Given the description of an element on the screen output the (x, y) to click on. 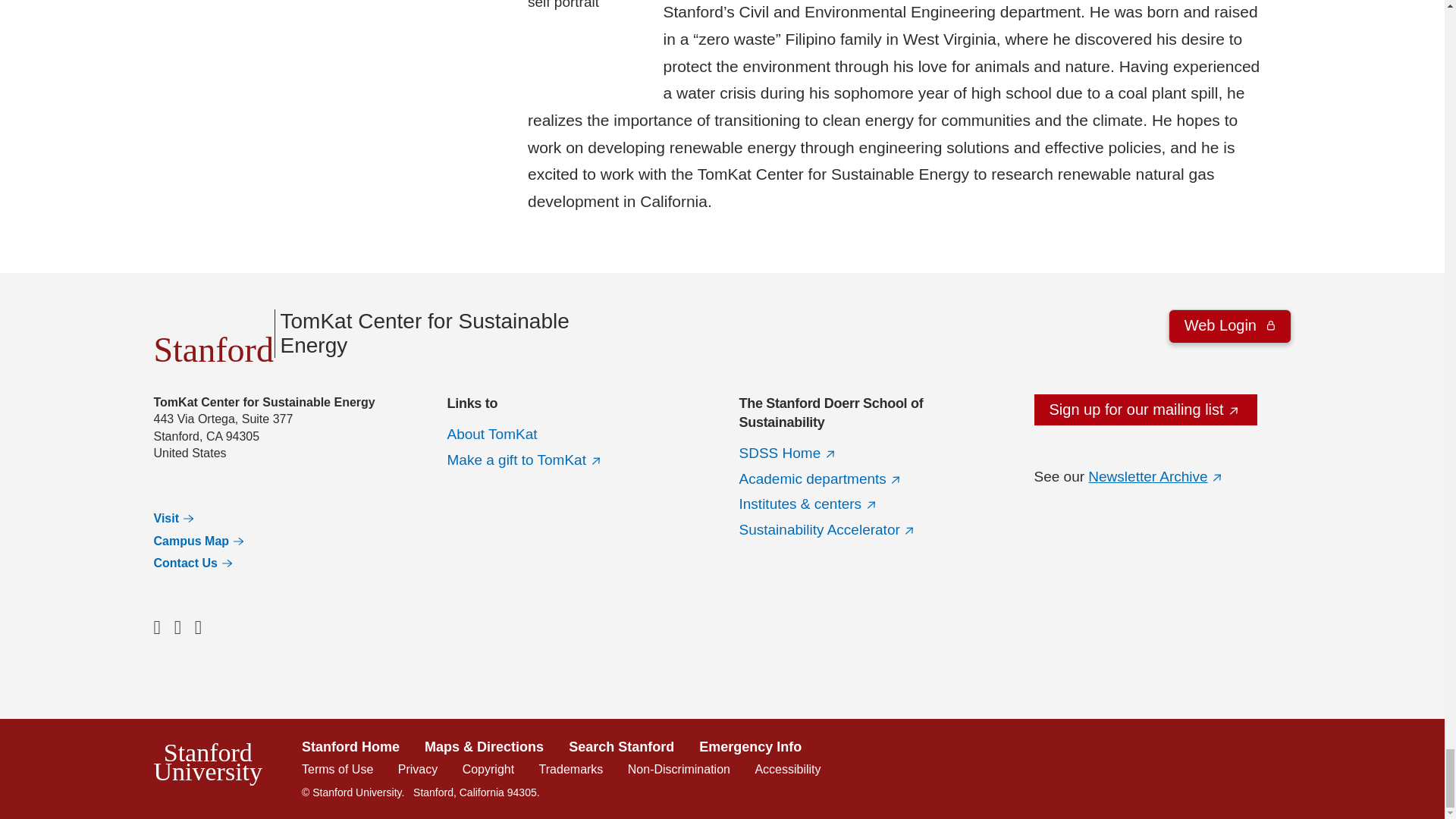
Privacy and cookie policy (417, 768)
Terms of use for sites (336, 768)
Report web accessibility issues (787, 768)
Non-discrimination policy (678, 768)
Ownership and use of Stanford trademarks and images (571, 768)
Report alleged copyright infringement (488, 768)
